Given the description of an element on the screen output the (x, y) to click on. 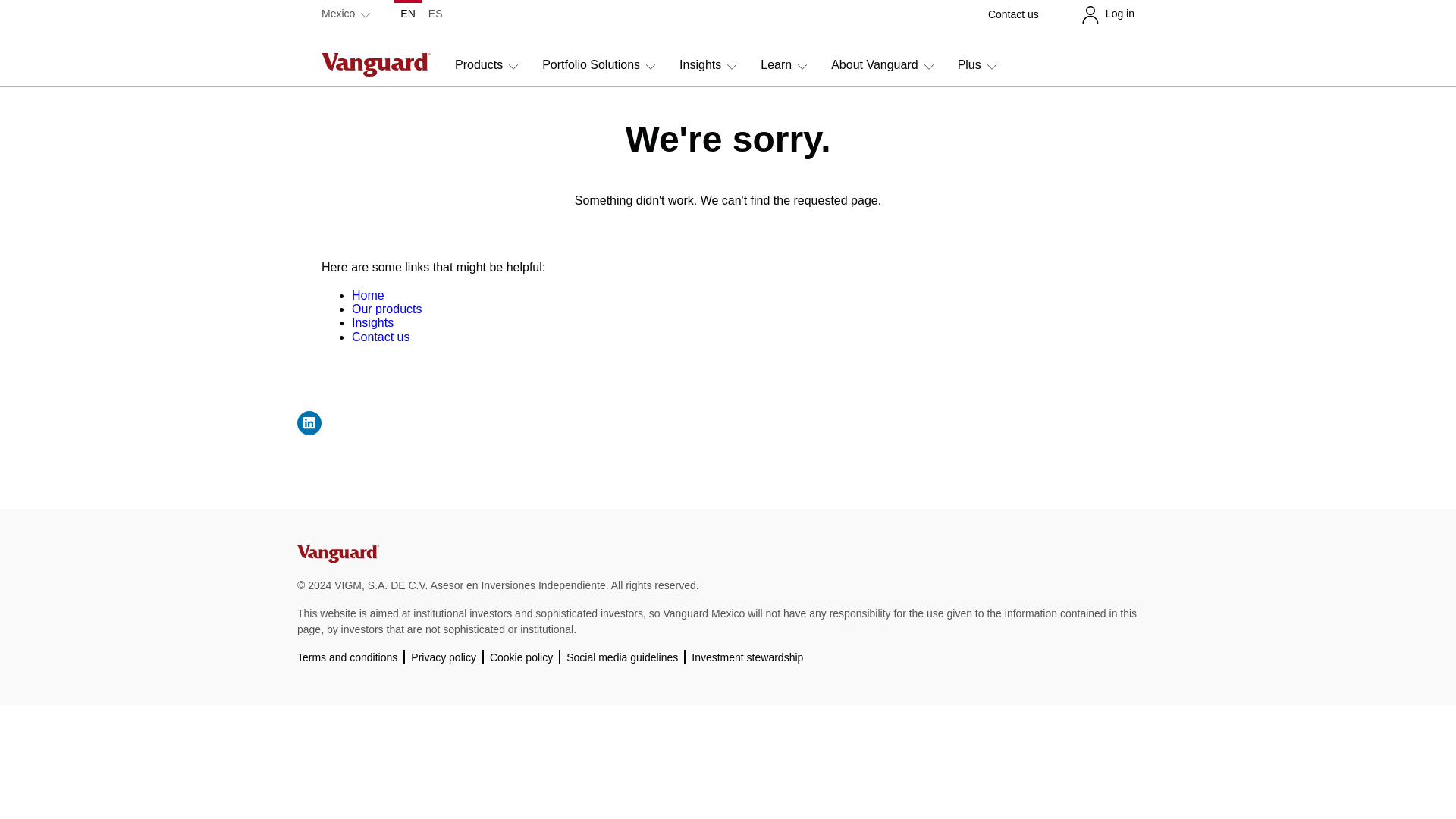
linkedin (309, 422)
Portfolio Solutions (598, 71)
Insights (707, 71)
Contact us (1013, 13)
Products (486, 71)
Mexico (345, 13)
Log in (1107, 14)
About Vanguard (882, 71)
link to home page (368, 295)
Vanguard (337, 558)
